Given the description of an element on the screen output the (x, y) to click on. 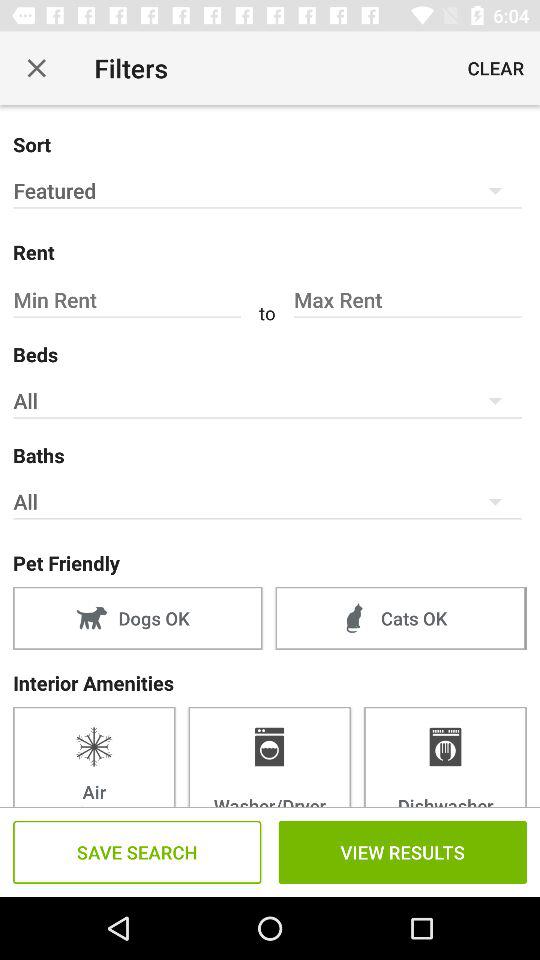
exit filters screen (36, 68)
